Given the description of an element on the screen output the (x, y) to click on. 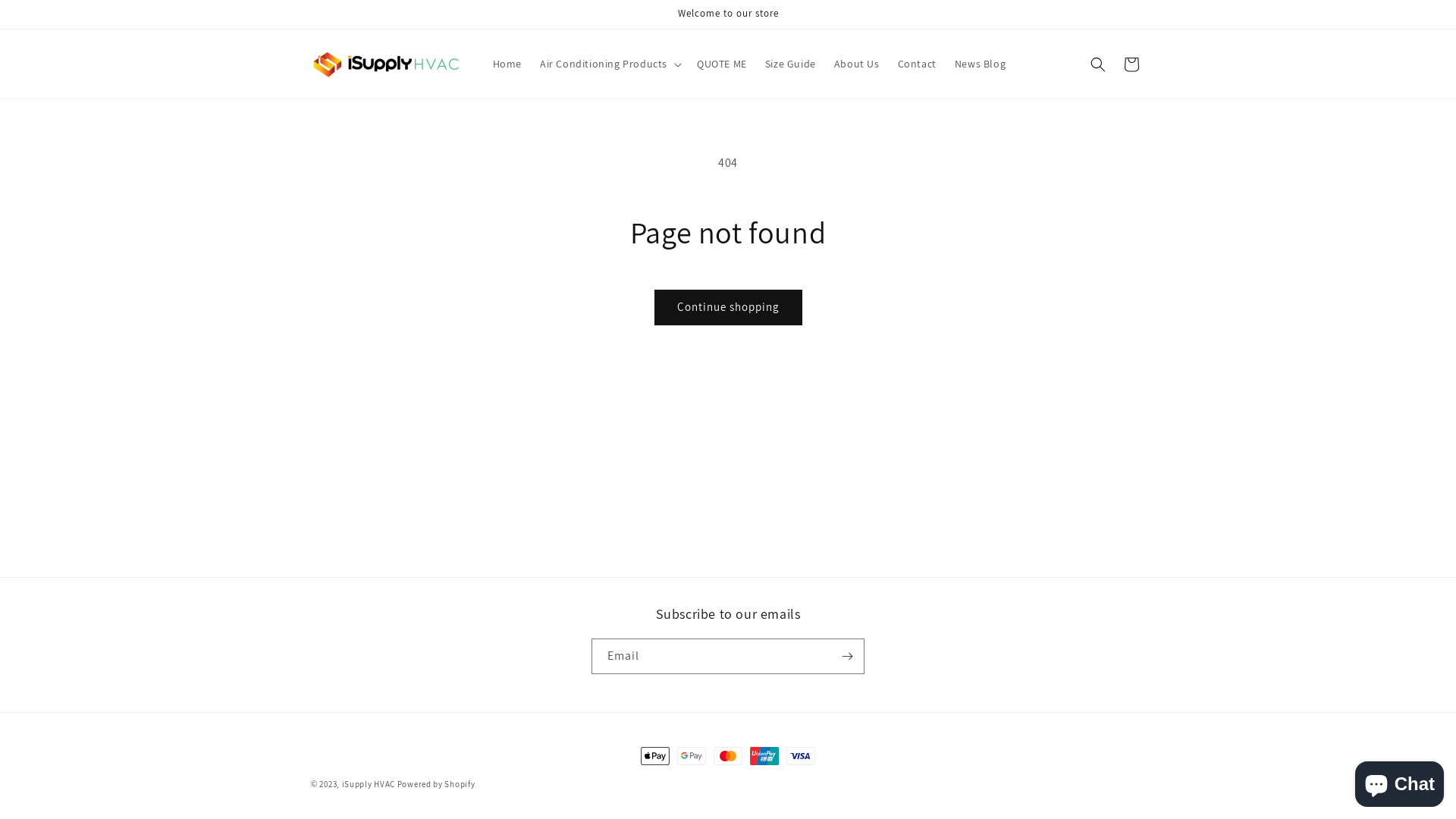
Shopify online store chat Element type: hover (1399, 780)
About Us Element type: text (856, 63)
iSupply HVAC Element type: text (368, 783)
QUOTE ME Element type: text (721, 63)
News Blog Element type: text (979, 63)
Continue shopping Element type: text (727, 307)
Powered by Shopify Element type: text (436, 783)
Home Element type: text (506, 63)
Contact Element type: text (916, 63)
Cart Element type: text (1131, 63)
Size Guide Element type: text (790, 63)
